Given the description of an element on the screen output the (x, y) to click on. 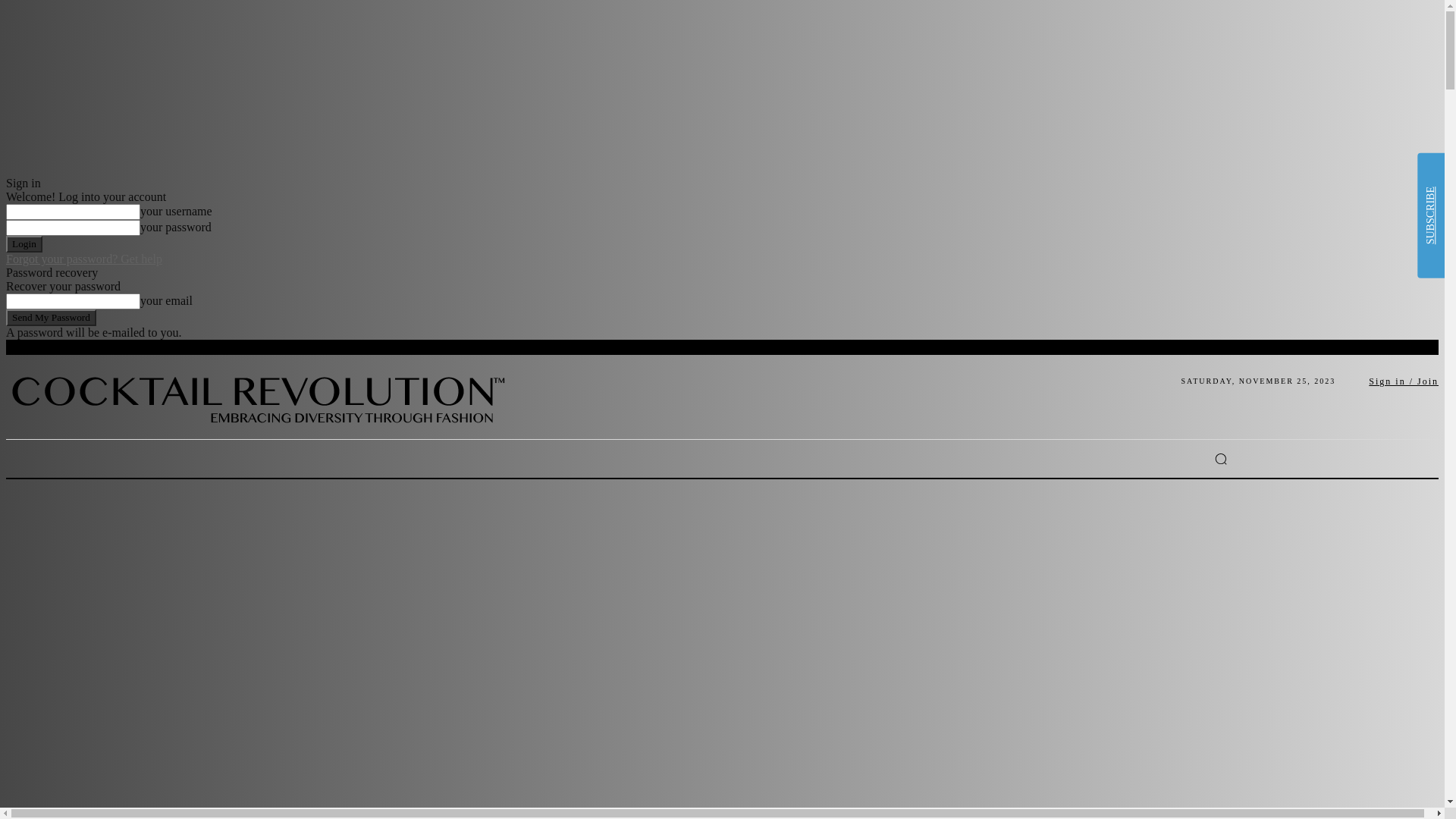
Facebook Element type: hover (1081, 458)
Sign in / Join Element type: text (1403, 380)
Twitter Element type: hover (1150, 458)
Forgot your password? Get help Element type: text (84, 258)
Youtube Element type: hover (1172, 458)
Instagram Element type: hover (1104, 458)
Pinterest Element type: hover (1127, 458)
EMBRACING DIVERSITY THROUGH FASHION Element type: hover (262, 392)
